Given the description of an element on the screen output the (x, y) to click on. 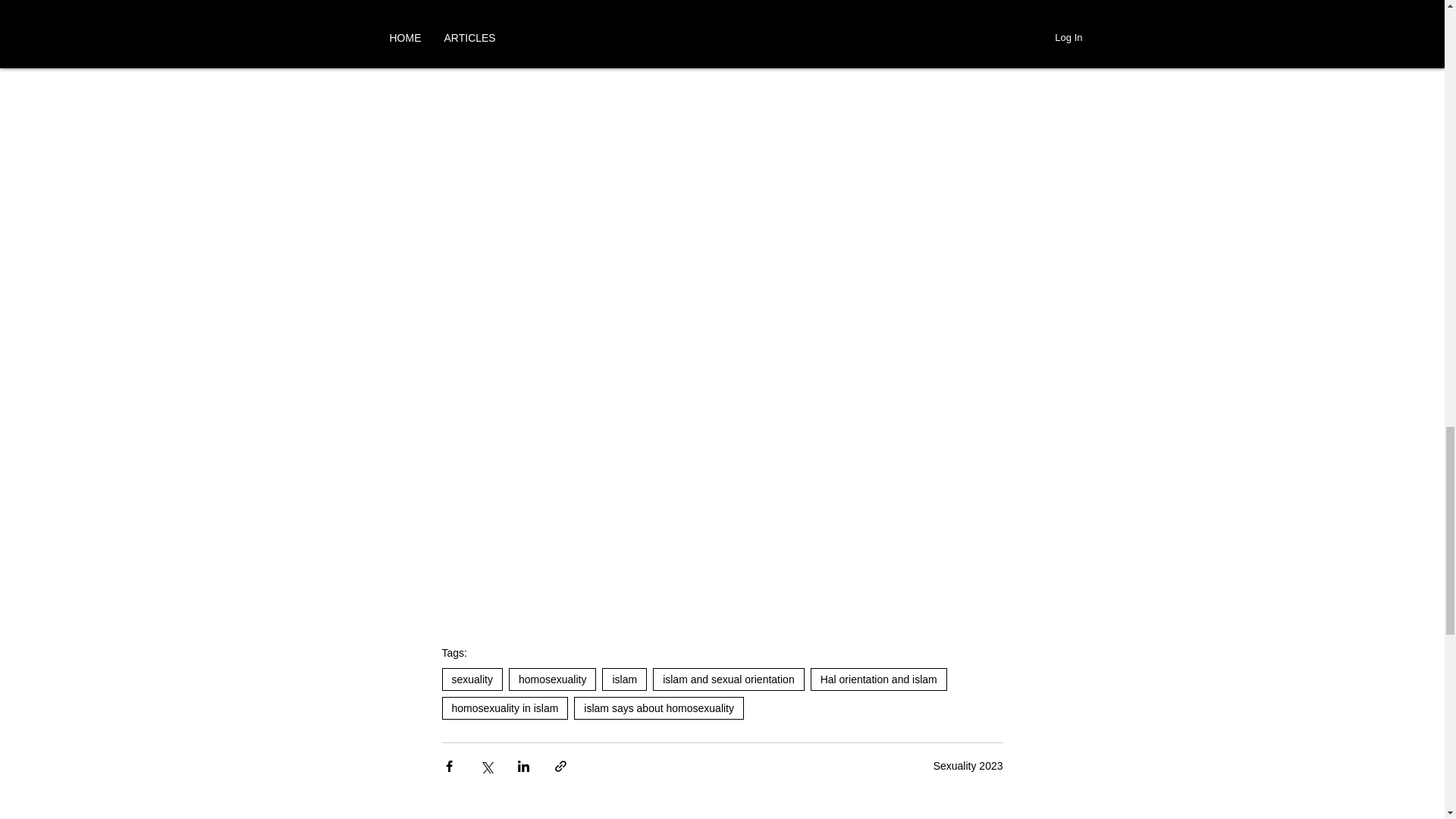
Sexuality 2023 (968, 766)
islam (624, 679)
homosexuality in islam (504, 707)
islam and sexual orientation (728, 679)
homosexuality (552, 679)
Hal orientation and islam (878, 679)
sexuality (471, 679)
islam says about homosexuality (658, 707)
